Given the description of an element on the screen output the (x, y) to click on. 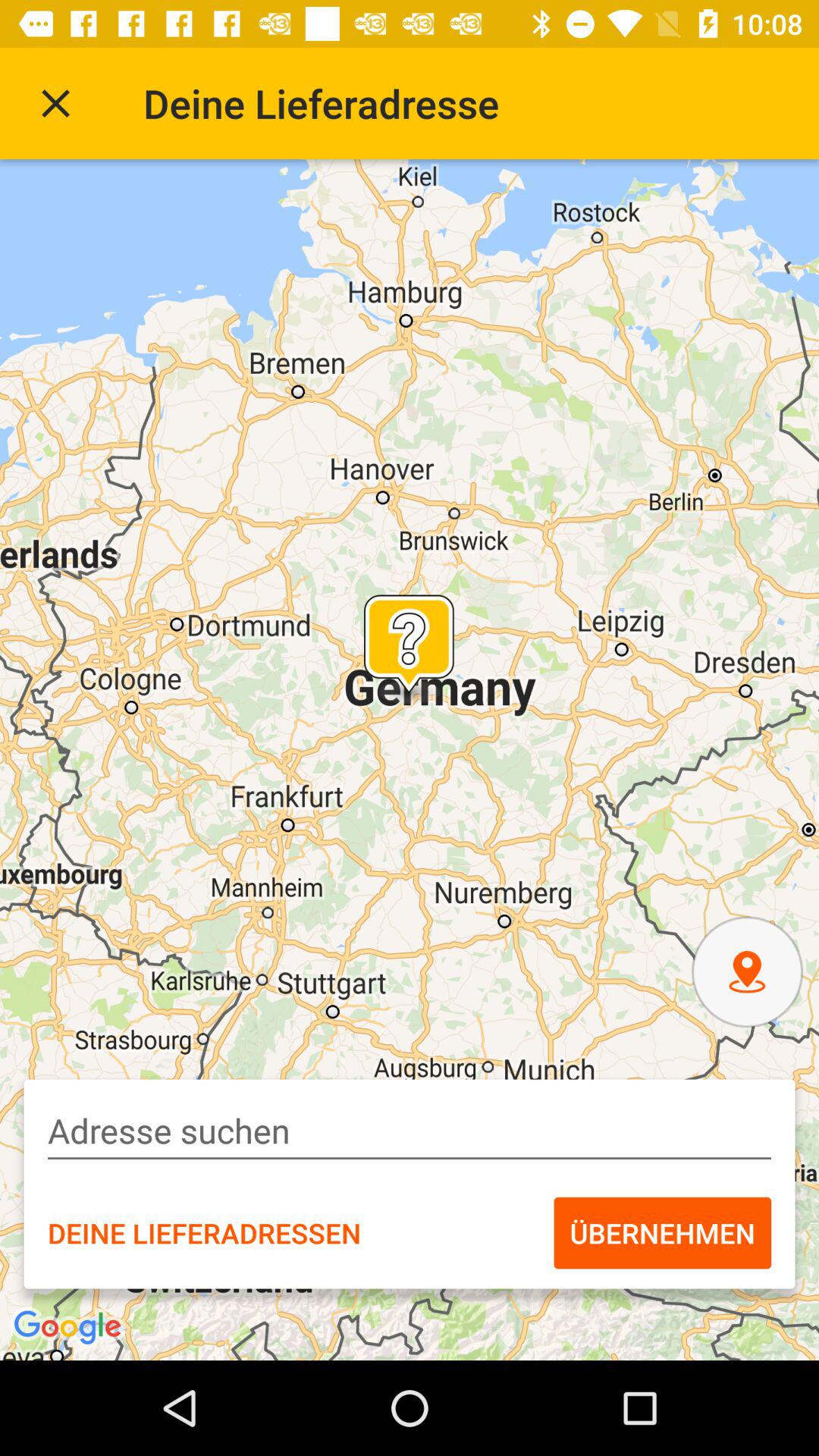
open icon next to the deine lieferadresse icon (55, 103)
